Given the description of an element on the screen output the (x, y) to click on. 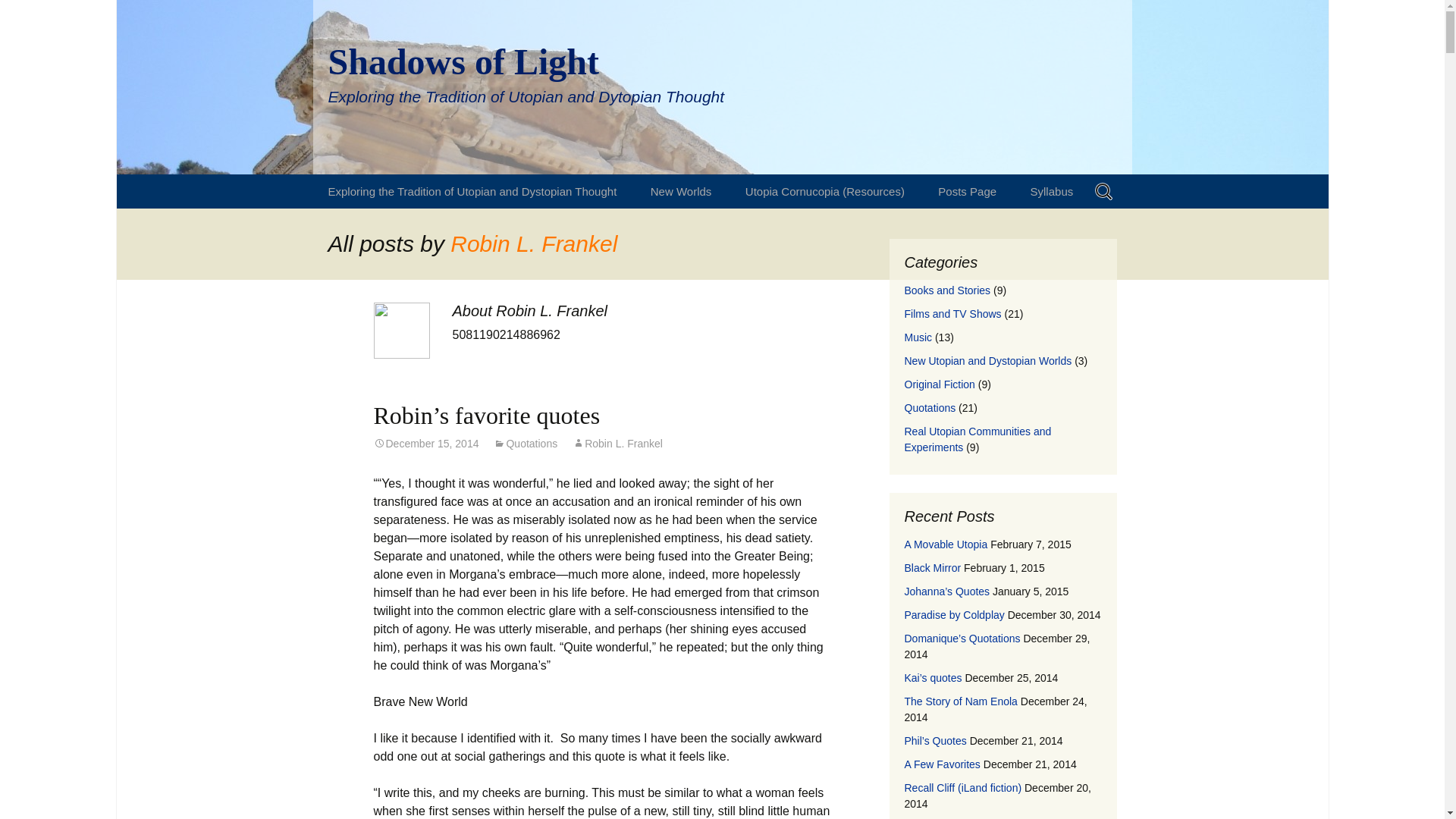
Quotations (525, 443)
Robin L. Frankel (533, 243)
Syllabus (1051, 191)
December 15, 2014 (425, 443)
Robin L. Frankel (617, 443)
Exploring the Tradition of Utopian and Dystopian Thought (472, 191)
Posts Page (967, 191)
Search (18, 15)
New Worlds (680, 191)
